Given the description of an element on the screen output the (x, y) to click on. 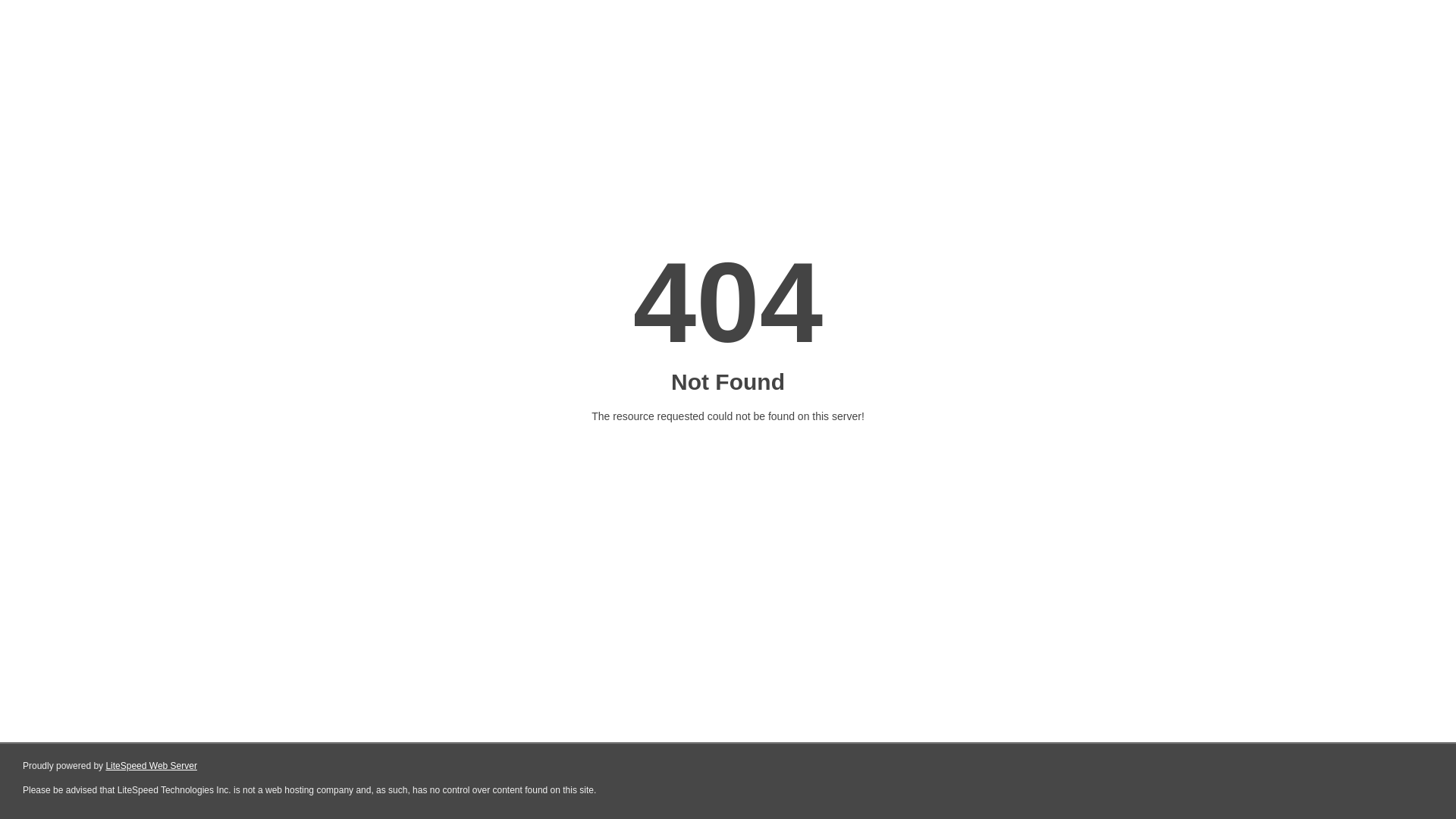
LiteSpeed Web Server Element type: text (151, 765)
